Given the description of an element on the screen output the (x, y) to click on. 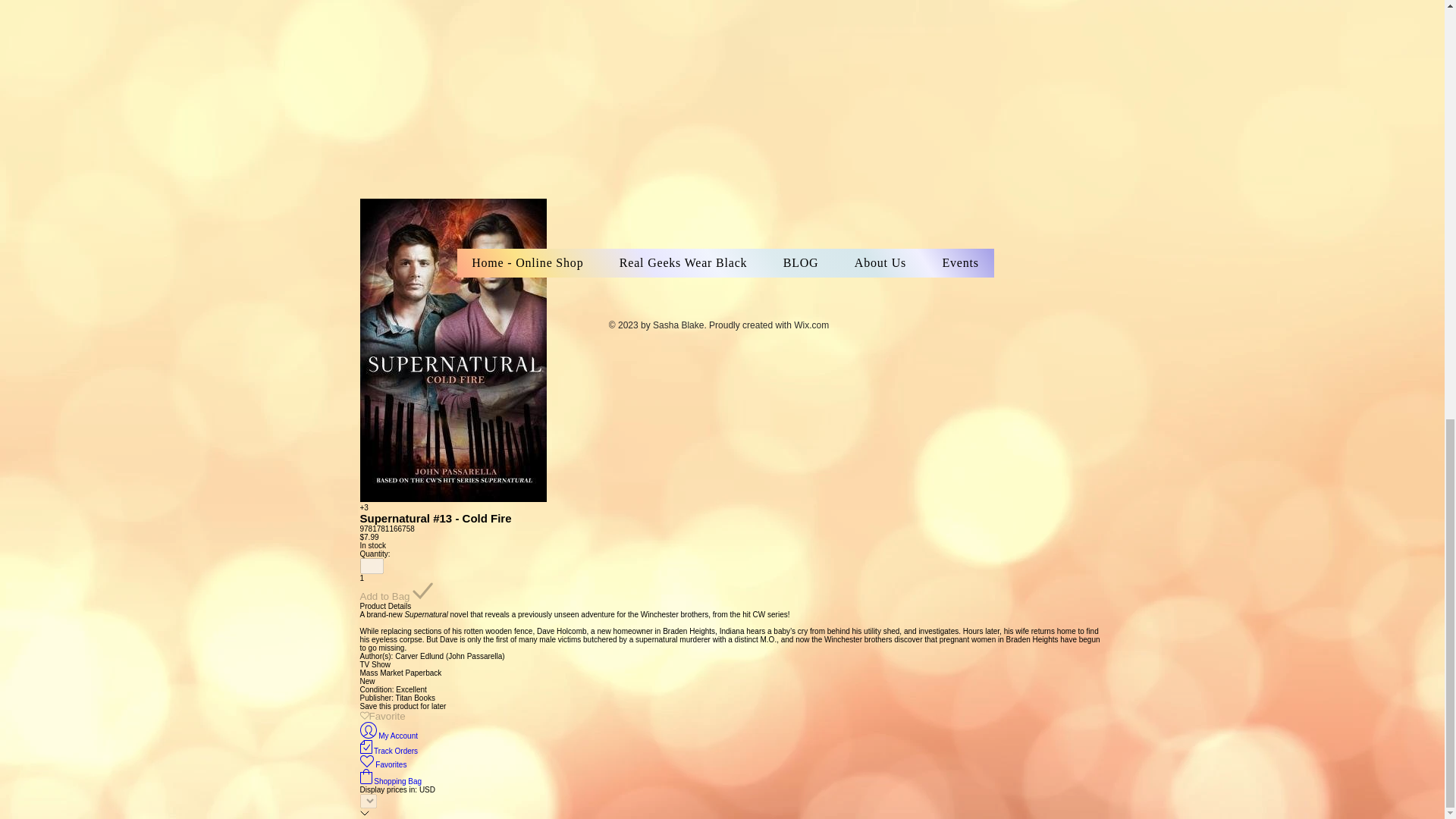
BLOG (800, 262)
Wix.com (810, 325)
Favorites (382, 764)
Real Geeks Wear Black (682, 262)
Track Orders (388, 750)
About Us (880, 262)
My Account (387, 736)
Events (960, 262)
Home - Online Shop (527, 262)
Favorite (381, 715)
Shopping Bag (390, 781)
Add to Bag (395, 591)
